Given the description of an element on the screen output the (x, y) to click on. 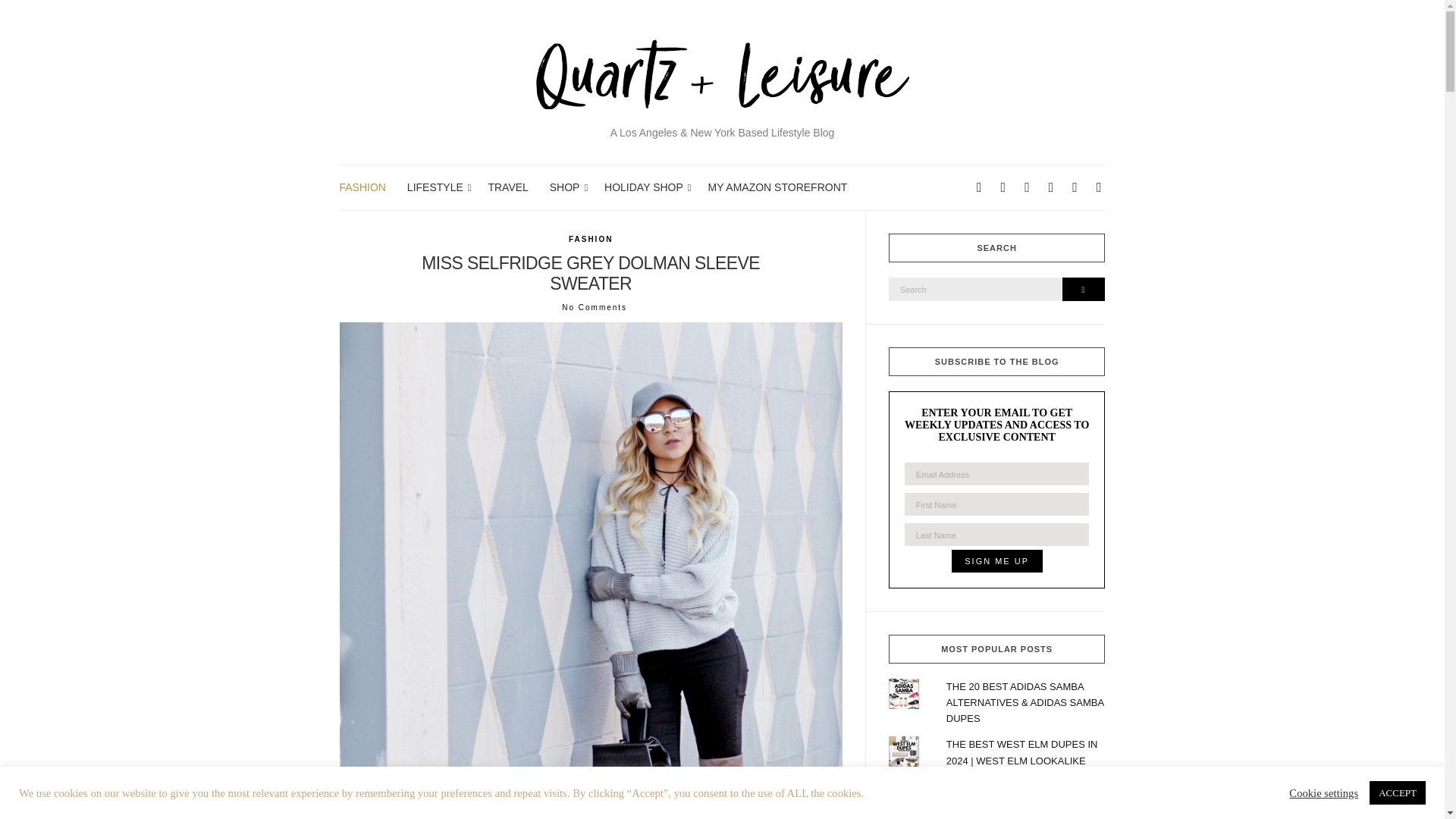
LIFESTYLE (437, 187)
SHOP (566, 187)
MY AMAZON STOREFRONT (777, 187)
SIGN ME UP (997, 560)
FASHION (362, 187)
HOLIDAY SHOP (645, 187)
TRAVEL (507, 187)
